Given the description of an element on the screen output the (x, y) to click on. 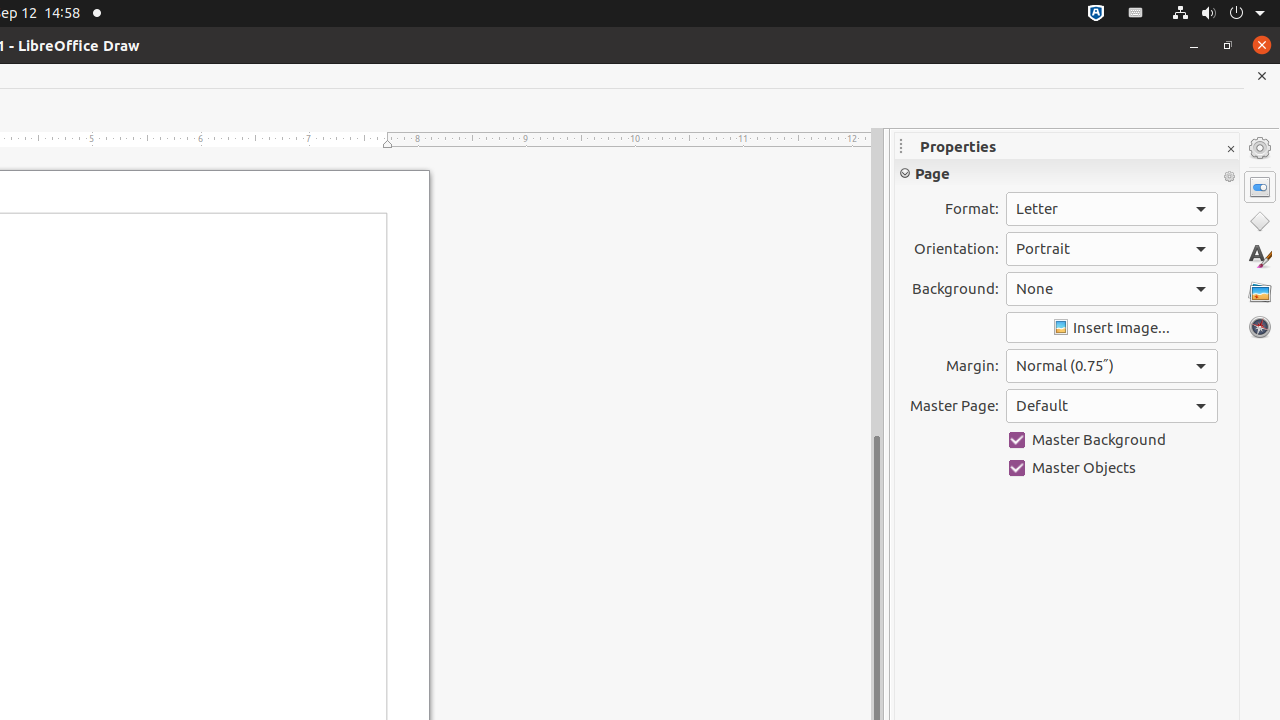
Master Objects Element type: check-box (1112, 468)
Gallery Element type: radio-button (1260, 292)
Shapes Element type: radio-button (1260, 222)
Navigator Element type: radio-button (1260, 327)
:1.72/StatusNotifierItem Element type: menu (1096, 13)
